Given the description of an element on the screen output the (x, y) to click on. 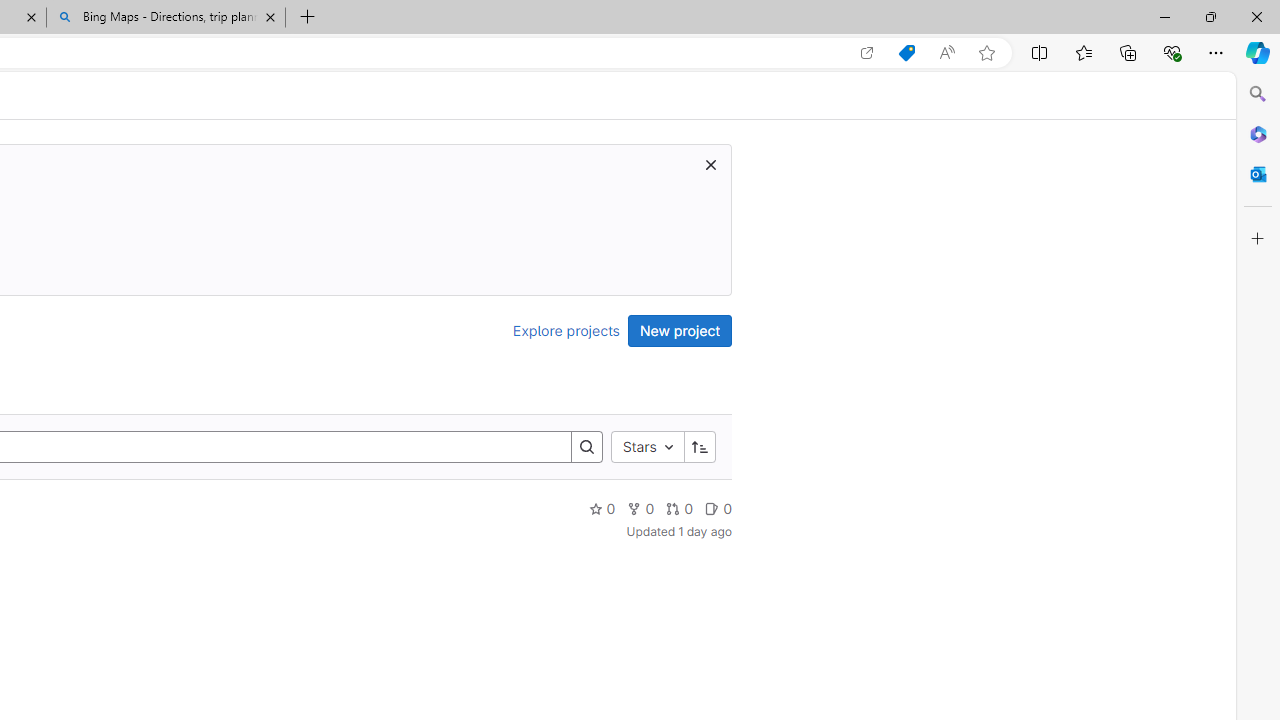
0 (718, 508)
Dismiss trial promotion (710, 164)
Class: s16 gl-icon gl-button-icon  (710, 164)
Open in app (867, 53)
